Given the description of an element on the screen output the (x, y) to click on. 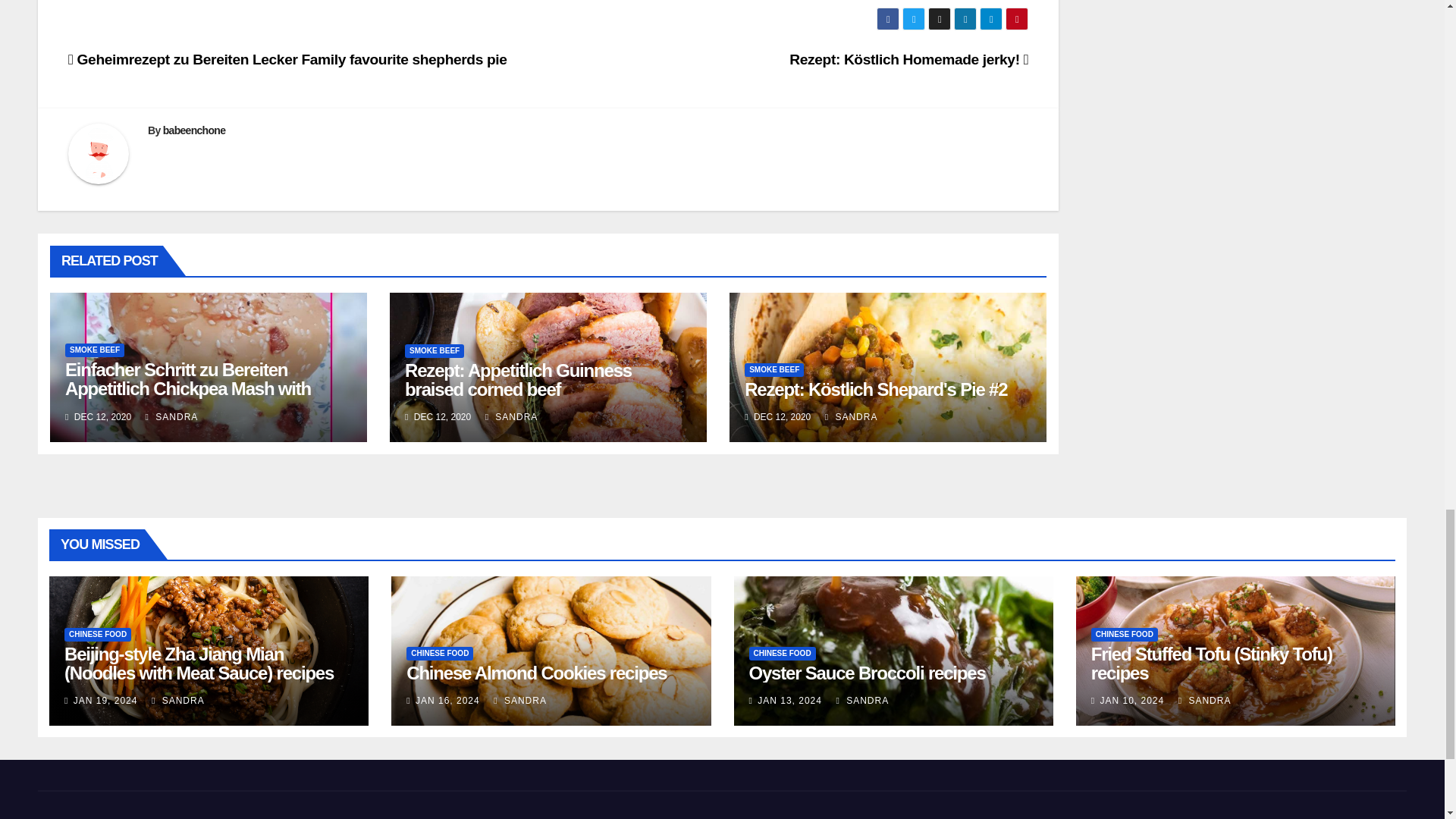
Rezept: Appetitlich Guinness braised corned beef (517, 379)
SMOKE BEEF (94, 350)
SMOKE BEEF (434, 350)
SANDRA (171, 416)
SMOKE BEEF (773, 369)
SANDRA (851, 416)
SANDRA (511, 416)
babeenchone (194, 130)
